Given the description of an element on the screen output the (x, y) to click on. 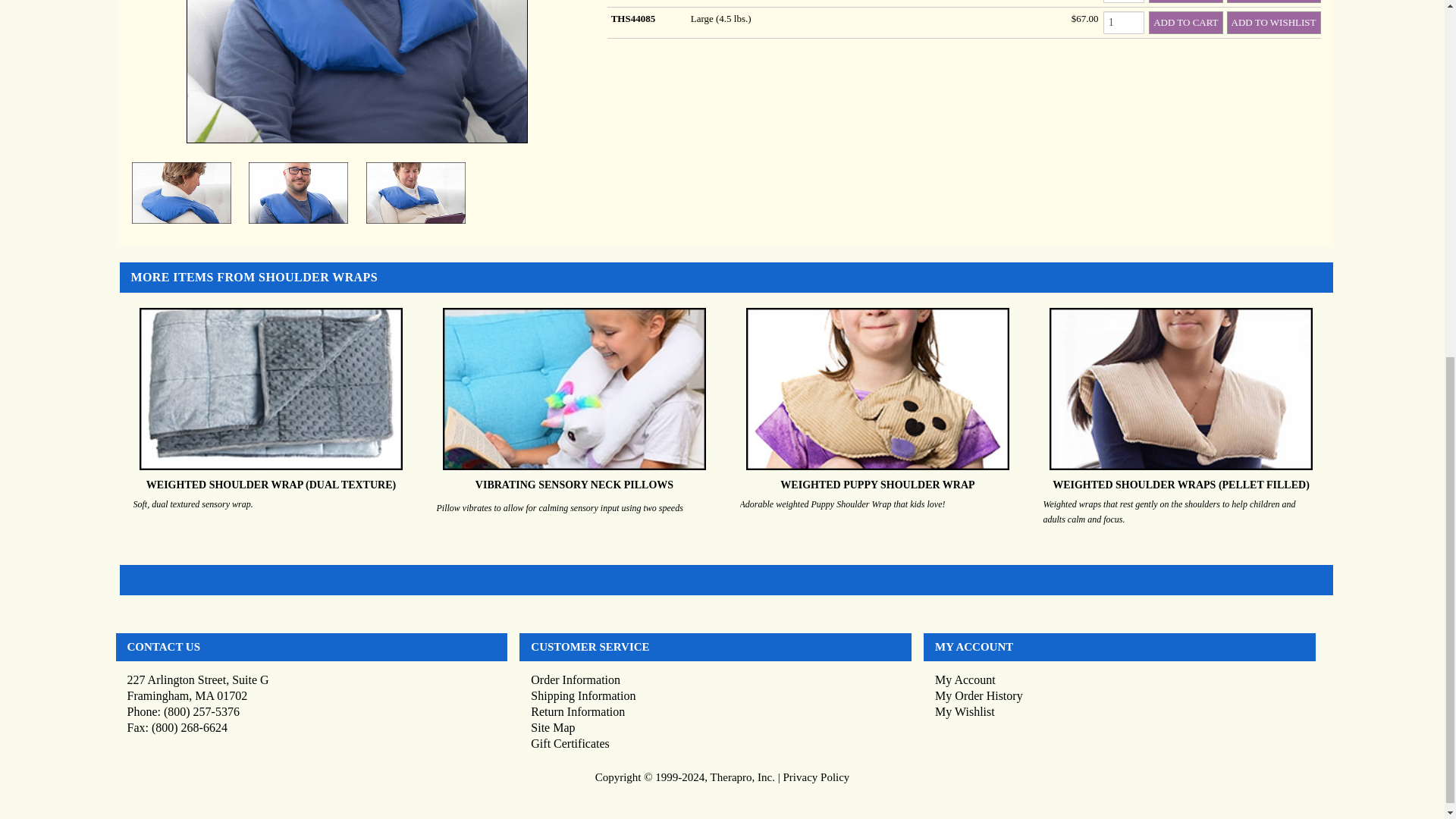
ADD TO CART (1185, 22)
ADD TO CART (1185, 1)
ADD TO WISHLIST (1273, 1)
ADD TO WISHLIST (1273, 22)
1 (1123, 1)
1 (1123, 22)
